Given the description of an element on the screen output the (x, y) to click on. 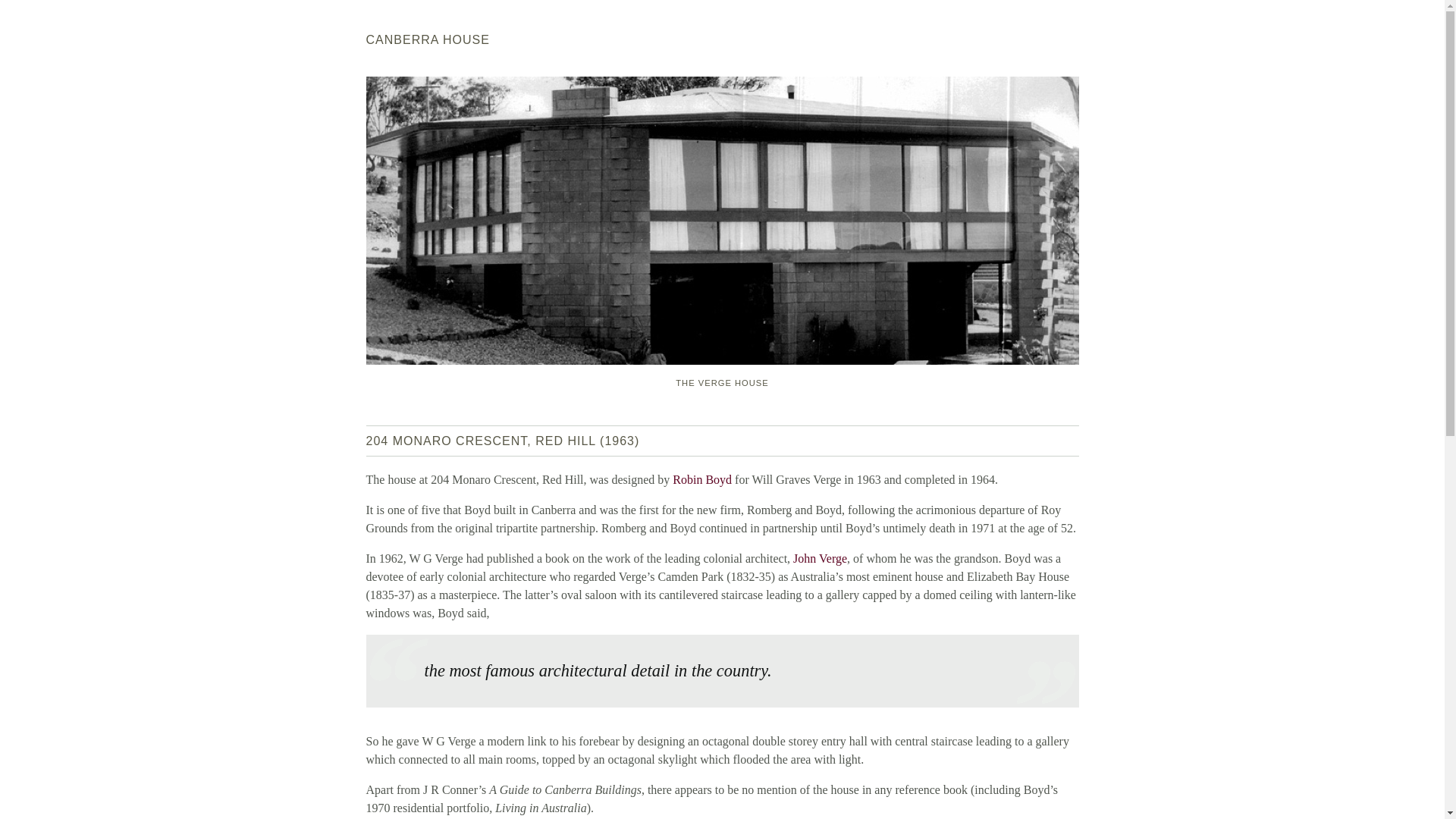
John Verge (820, 558)
View biography. (702, 479)
Biography of John Verge at the ADB website. (820, 558)
Robin Boyd (702, 479)
CANBERRA HOUSE (427, 39)
